Given the description of an element on the screen output the (x, y) to click on. 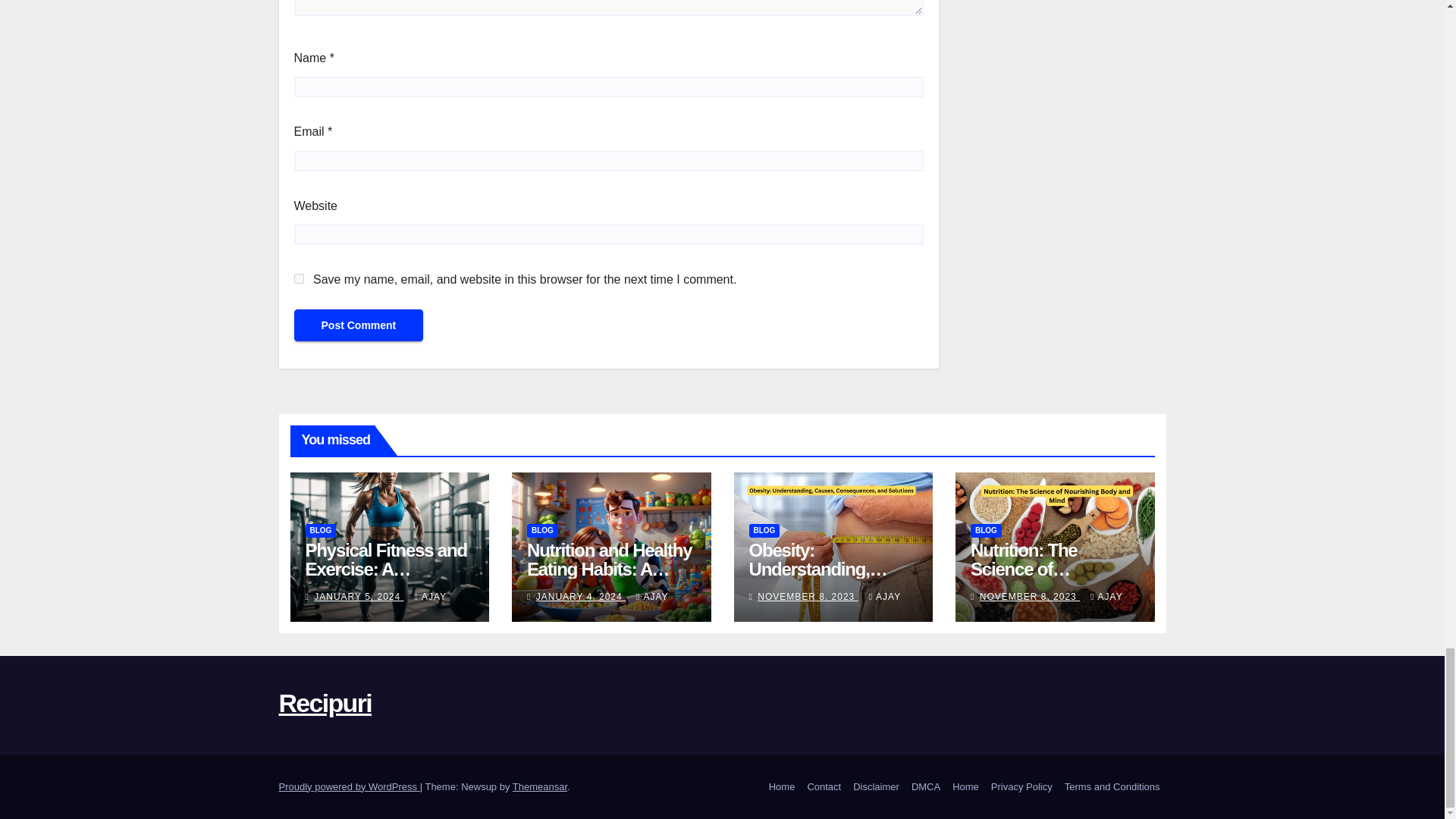
Post Comment (358, 325)
yes (299, 278)
